Given the description of an element on the screen output the (x, y) to click on. 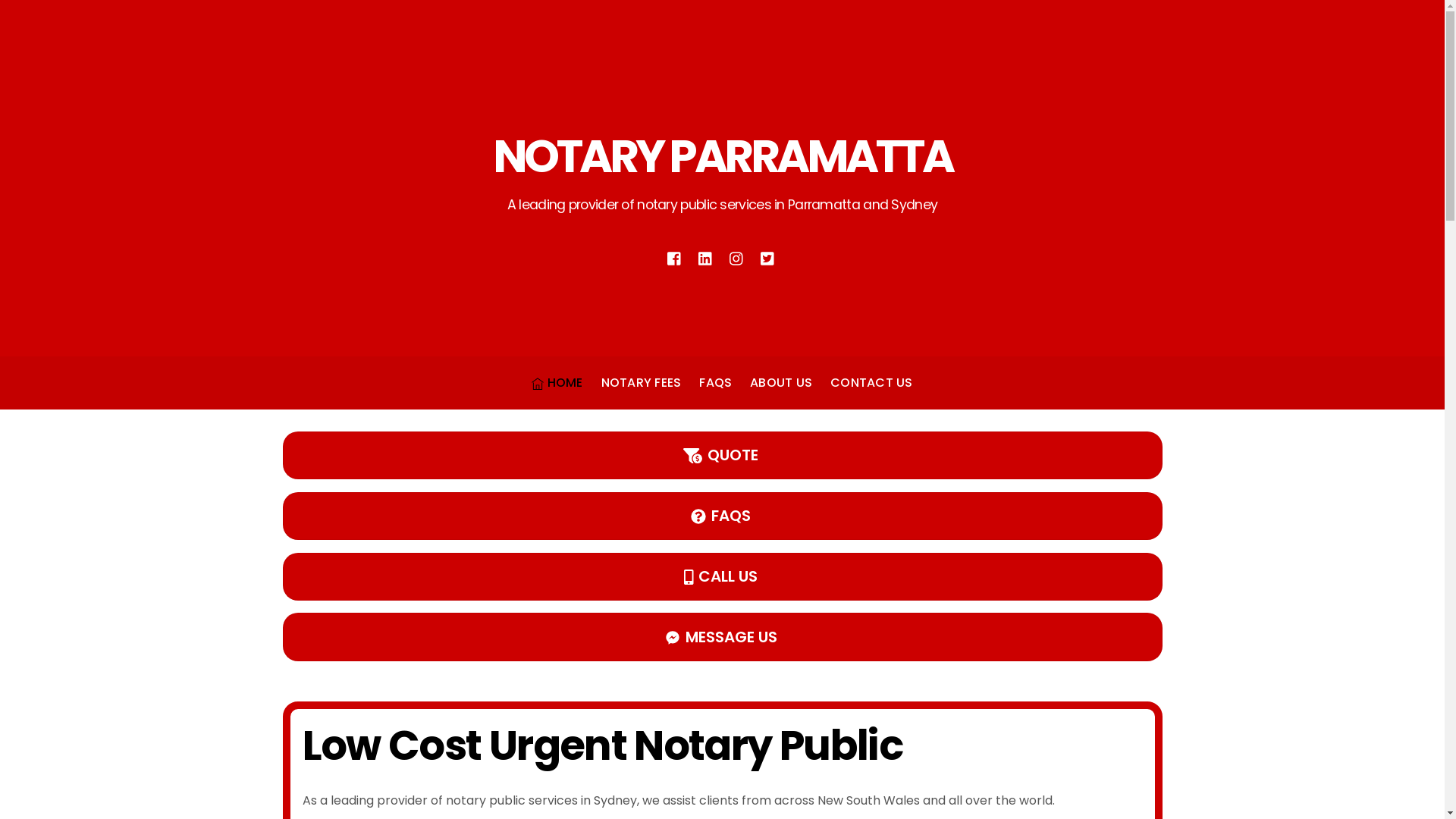
NOTARY FEES Element type: text (641, 382)
FAQS Element type: text (721, 515)
NOTARY PARRAMATTA Element type: text (722, 156)
CONTACT US Element type: text (871, 382)
ABOUT US Element type: text (780, 382)
FAQS Element type: text (715, 382)
CALL US Element type: text (721, 576)
MESSAGE US Element type: text (721, 636)
HOME Element type: text (556, 382)
QUOTE Element type: text (721, 455)
